Given the description of an element on the screen output the (x, y) to click on. 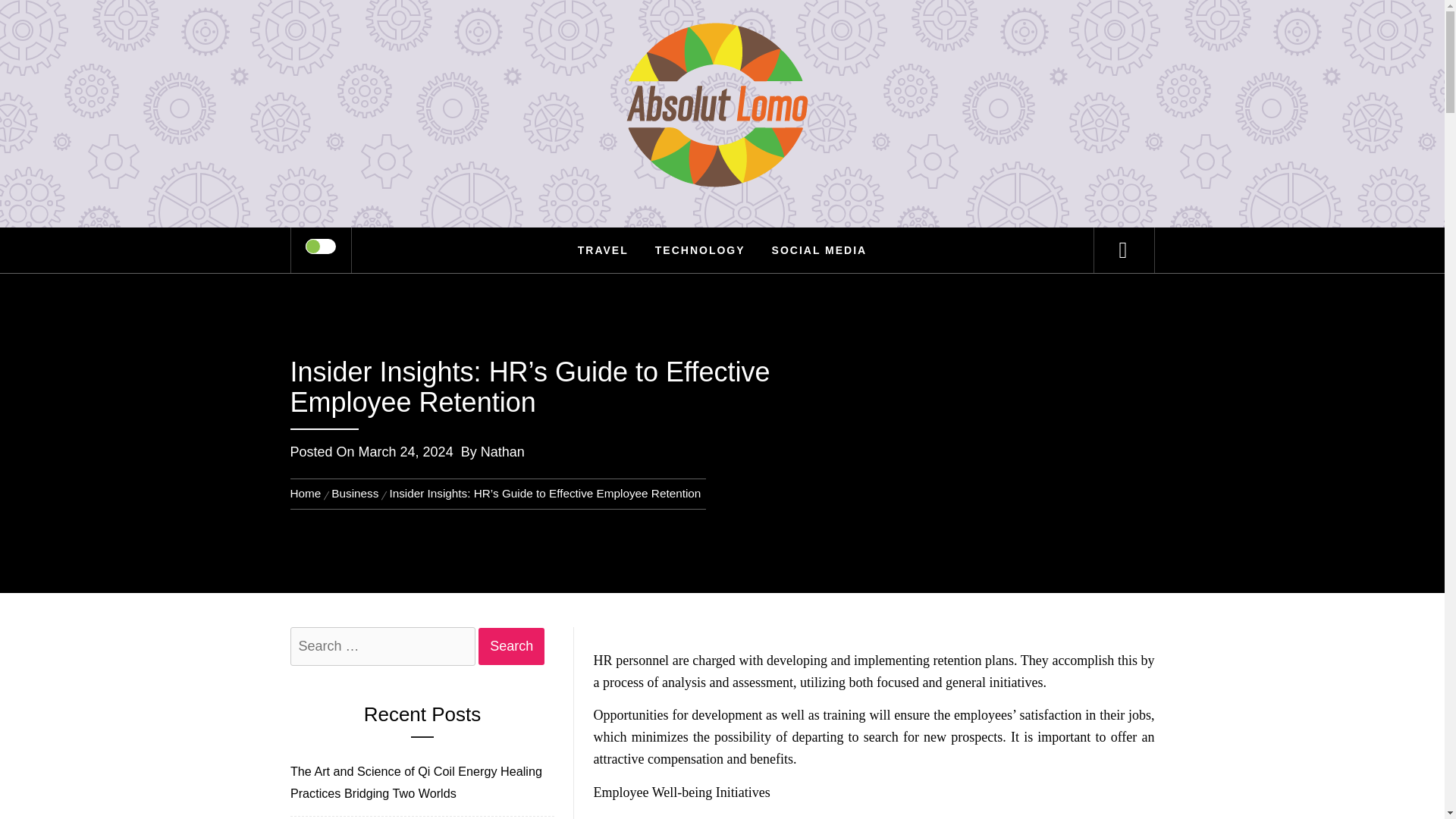
Home (307, 492)
Business (355, 492)
Search (511, 646)
TECHNOLOGY (700, 249)
Search (797, 33)
Nathan (502, 451)
Search (511, 646)
ABSOLUT LOMO (721, 61)
TRAVEL (603, 249)
